Given the description of an element on the screen output the (x, y) to click on. 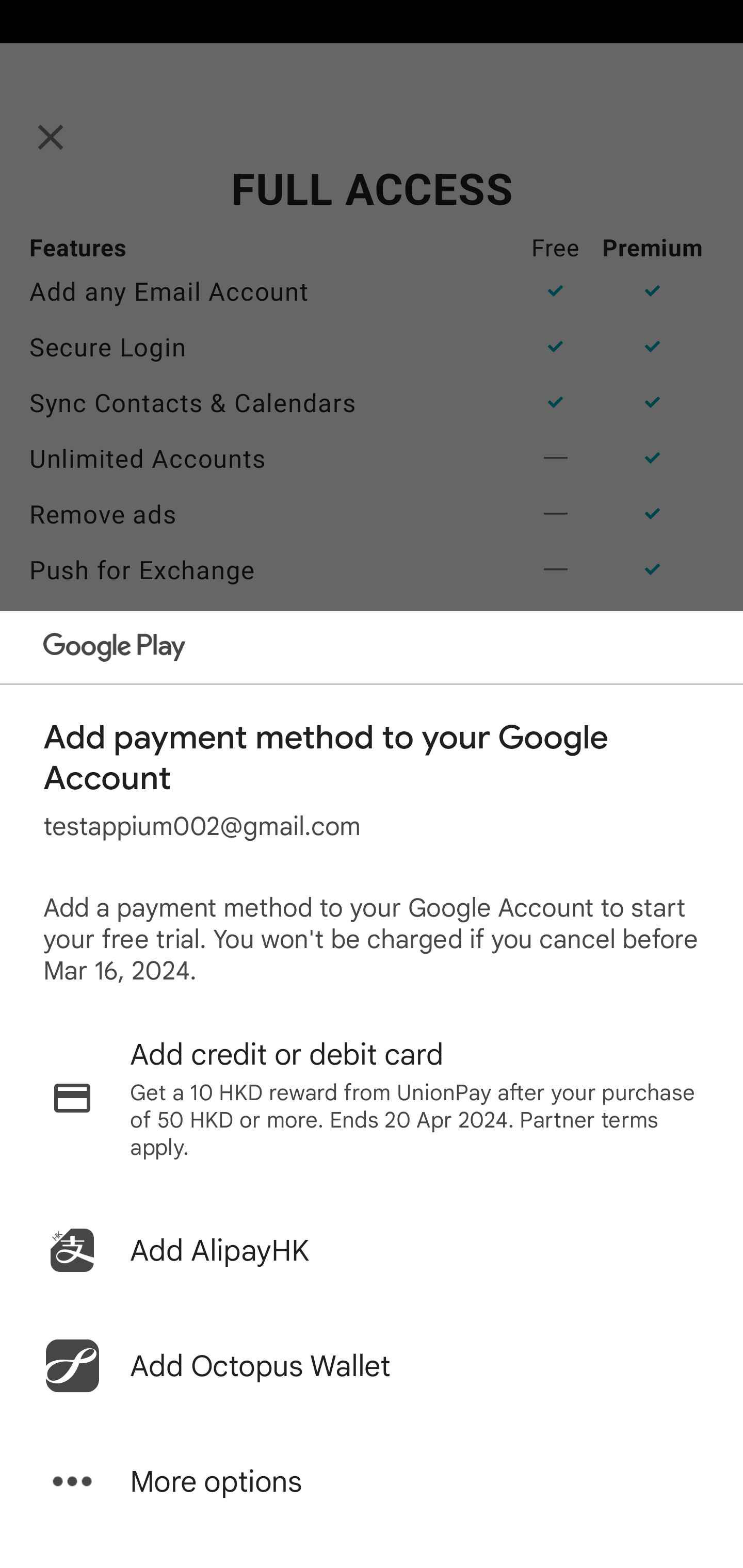
Add AlipayHK (371, 1250)
Add Octopus Wallet (371, 1365)
More options (371, 1481)
